Given the description of an element on the screen output the (x, y) to click on. 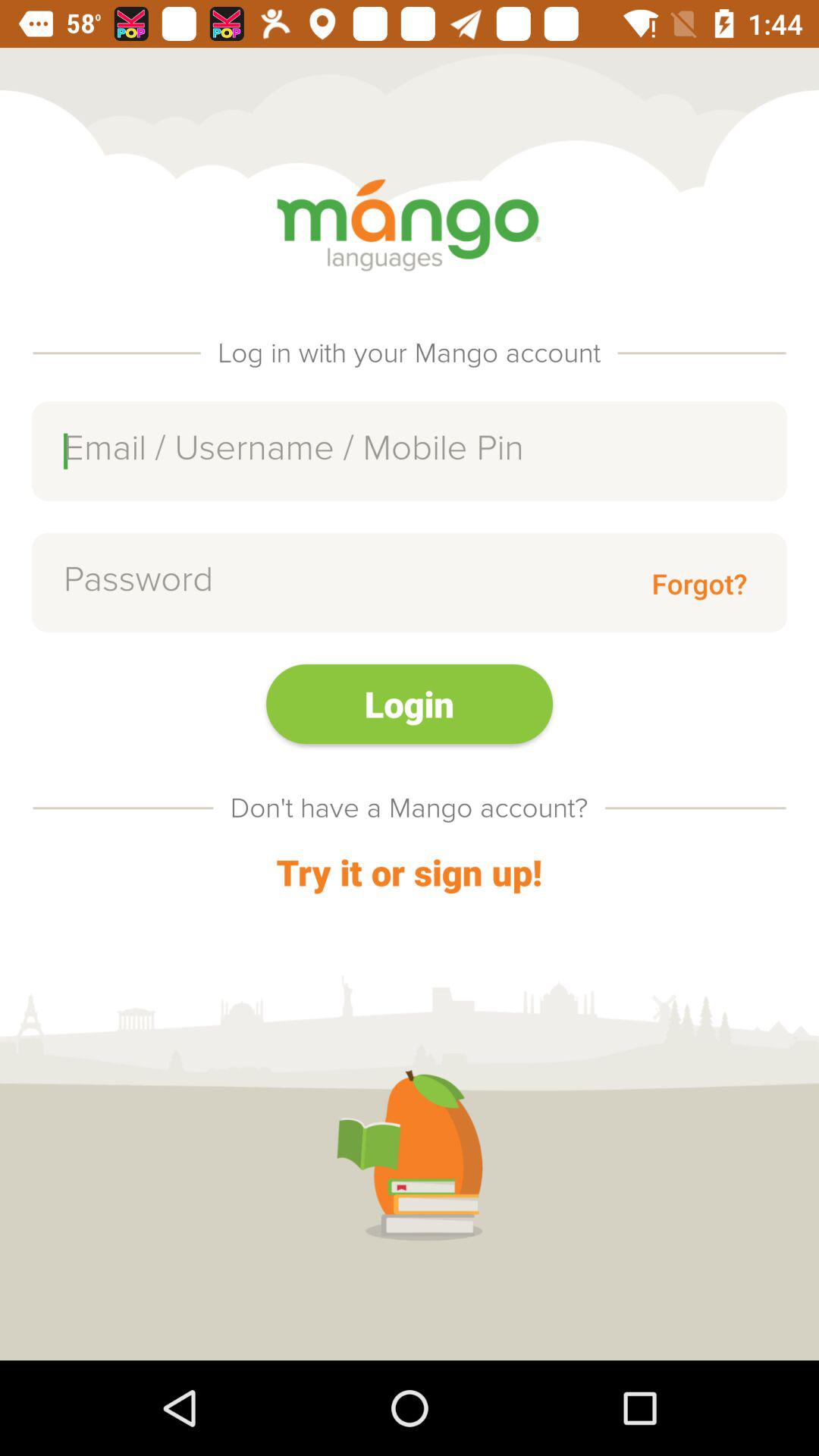
press login (409, 703)
